Given the description of an element on the screen output the (x, y) to click on. 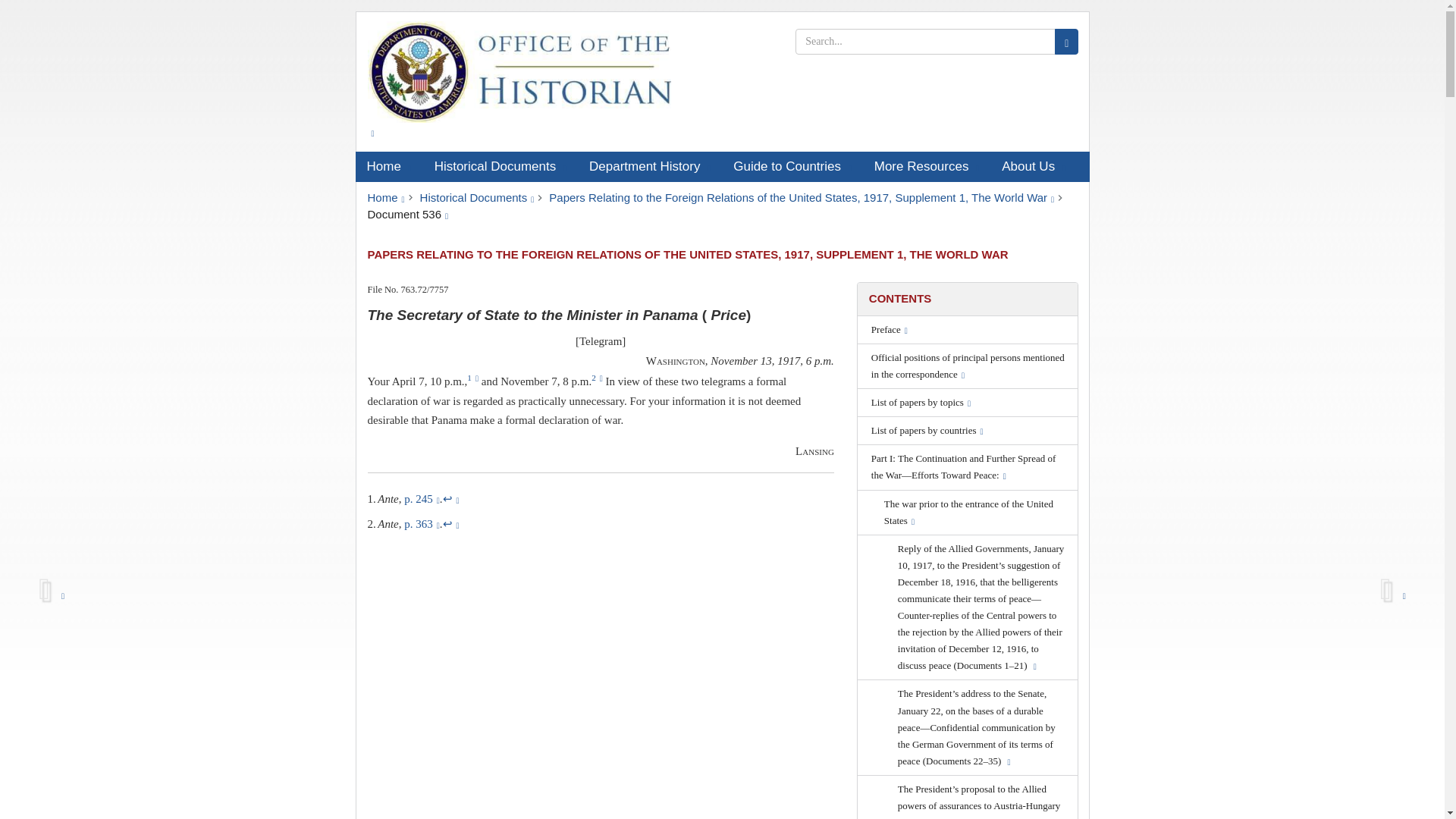
Historical Documents (477, 196)
Department History (650, 166)
Guide to Countries (792, 166)
About Us (1033, 166)
Home (388, 166)
More Resources (926, 166)
Historical Documents (500, 166)
Home (385, 196)
Document 536 (407, 214)
